Given the description of an element on the screen output the (x, y) to click on. 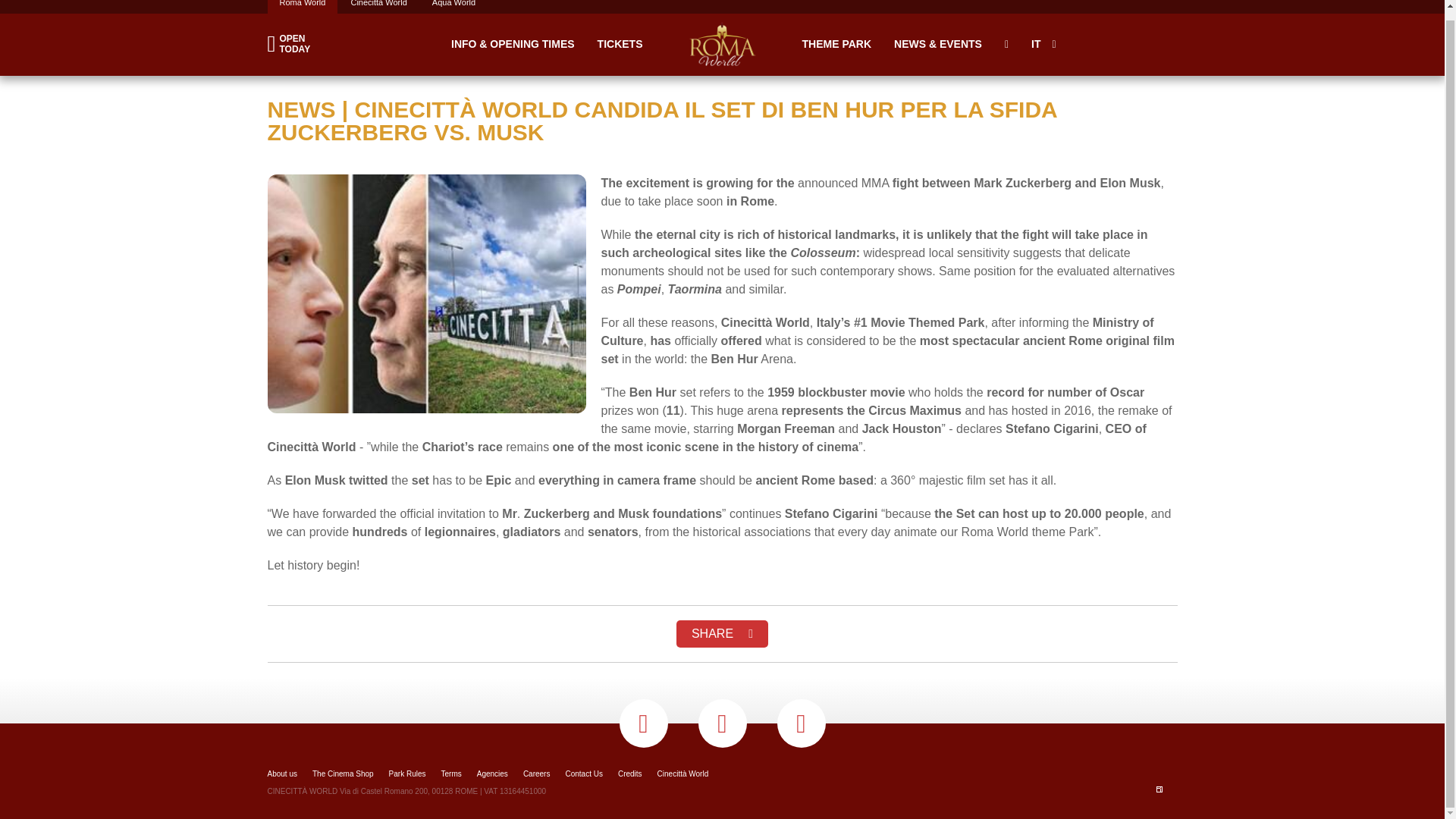
The Cinema Shop (343, 773)
About us (281, 773)
SHARE (722, 633)
Aqua World (293, 43)
